Given the description of an element on the screen output the (x, y) to click on. 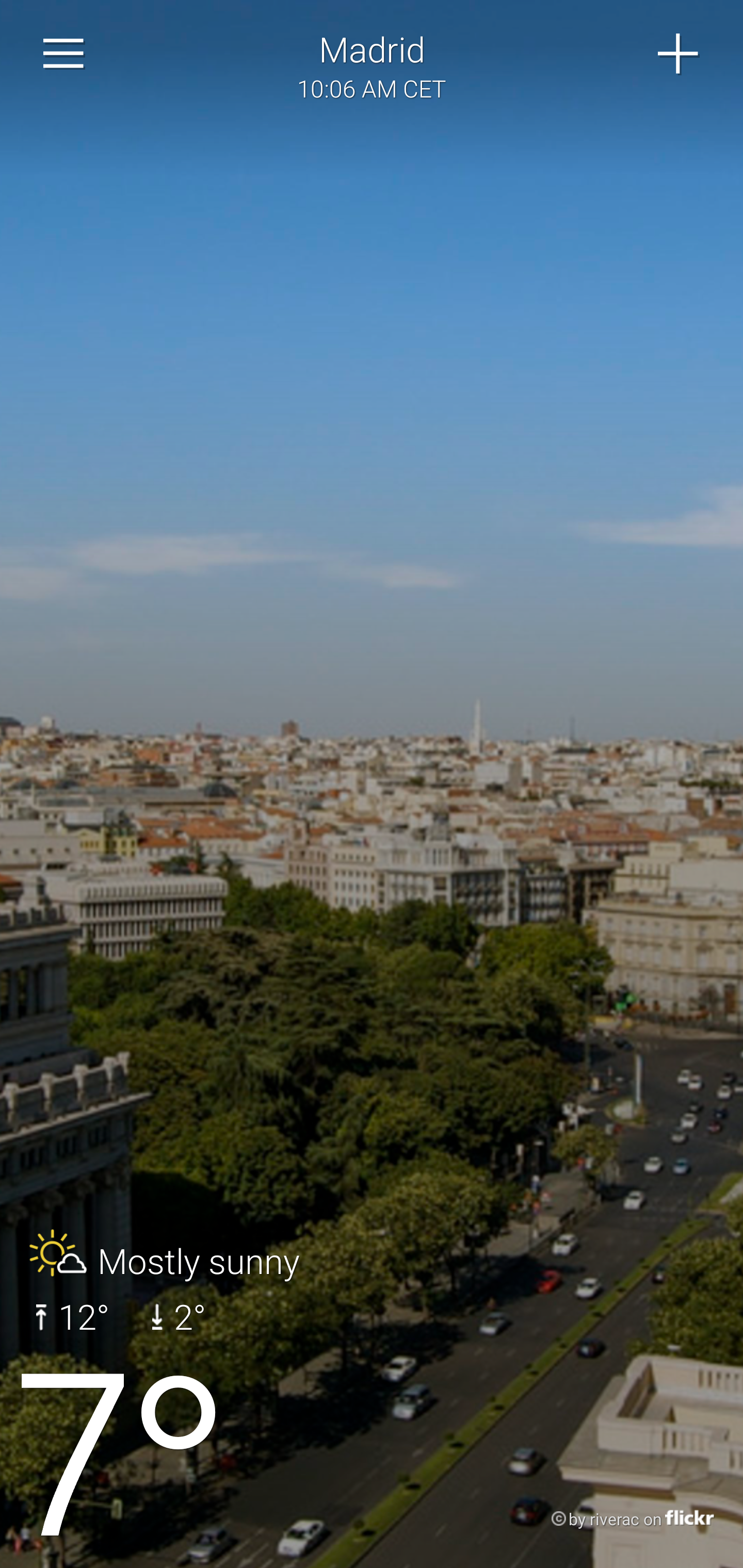
Sidebar (64, 54)
Add City (678, 53)
